Given the description of an element on the screen output the (x, y) to click on. 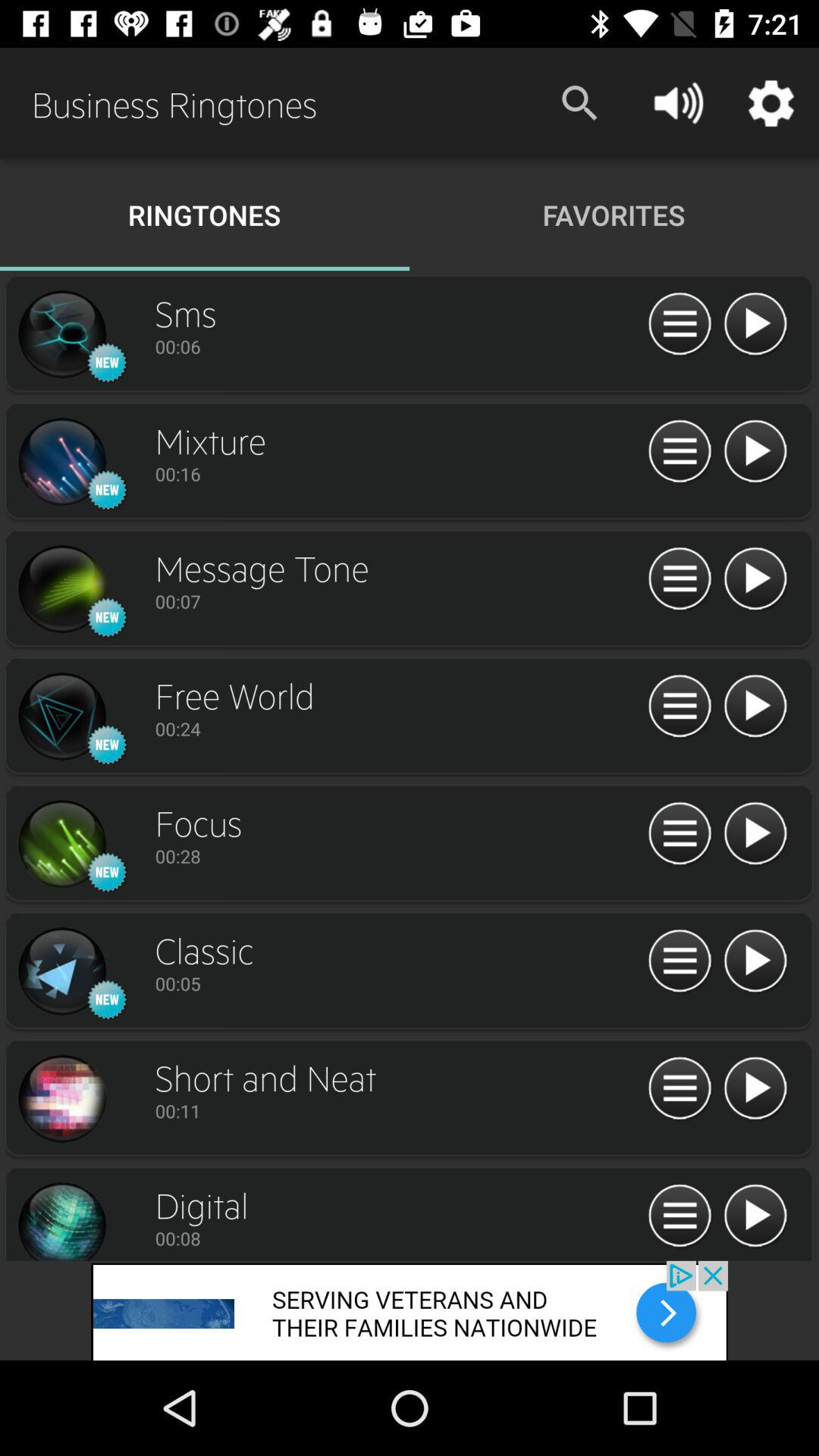
settings audio (679, 834)
